Given the description of an element on the screen output the (x, y) to click on. 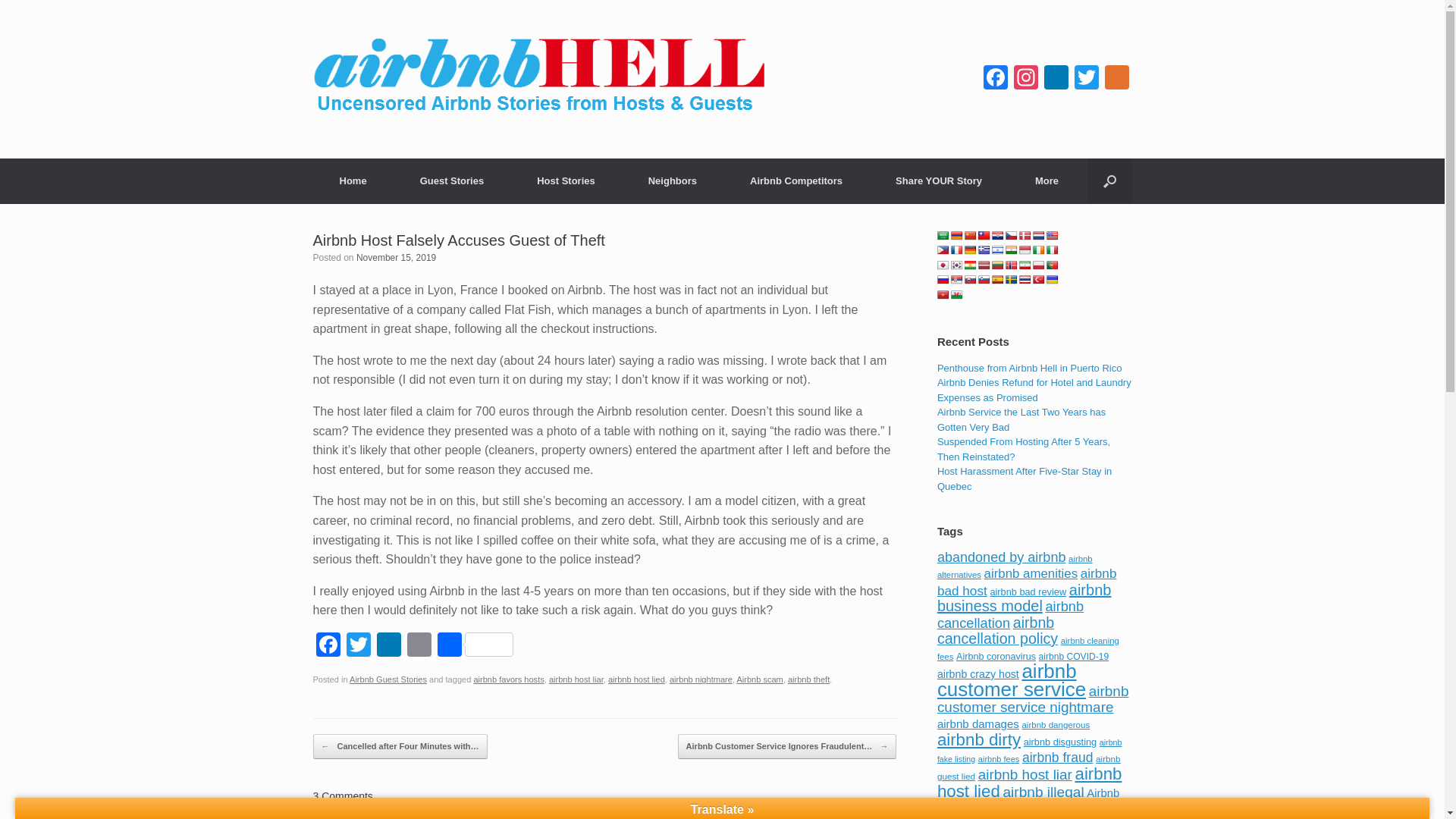
Reasons why you should consider not using the Airbnb service (353, 180)
Share YOUR Airbnb Story with the community (939, 180)
More Info (1046, 180)
Home (353, 180)
Guest Stories (452, 180)
Airbnb Host Falsely Accuses Guest of Theft (458, 239)
Host Stories (566, 180)
airbnb nightmare (700, 678)
Airbnb scam (759, 678)
Facebook (327, 646)
